Given the description of an element on the screen output the (x, y) to click on. 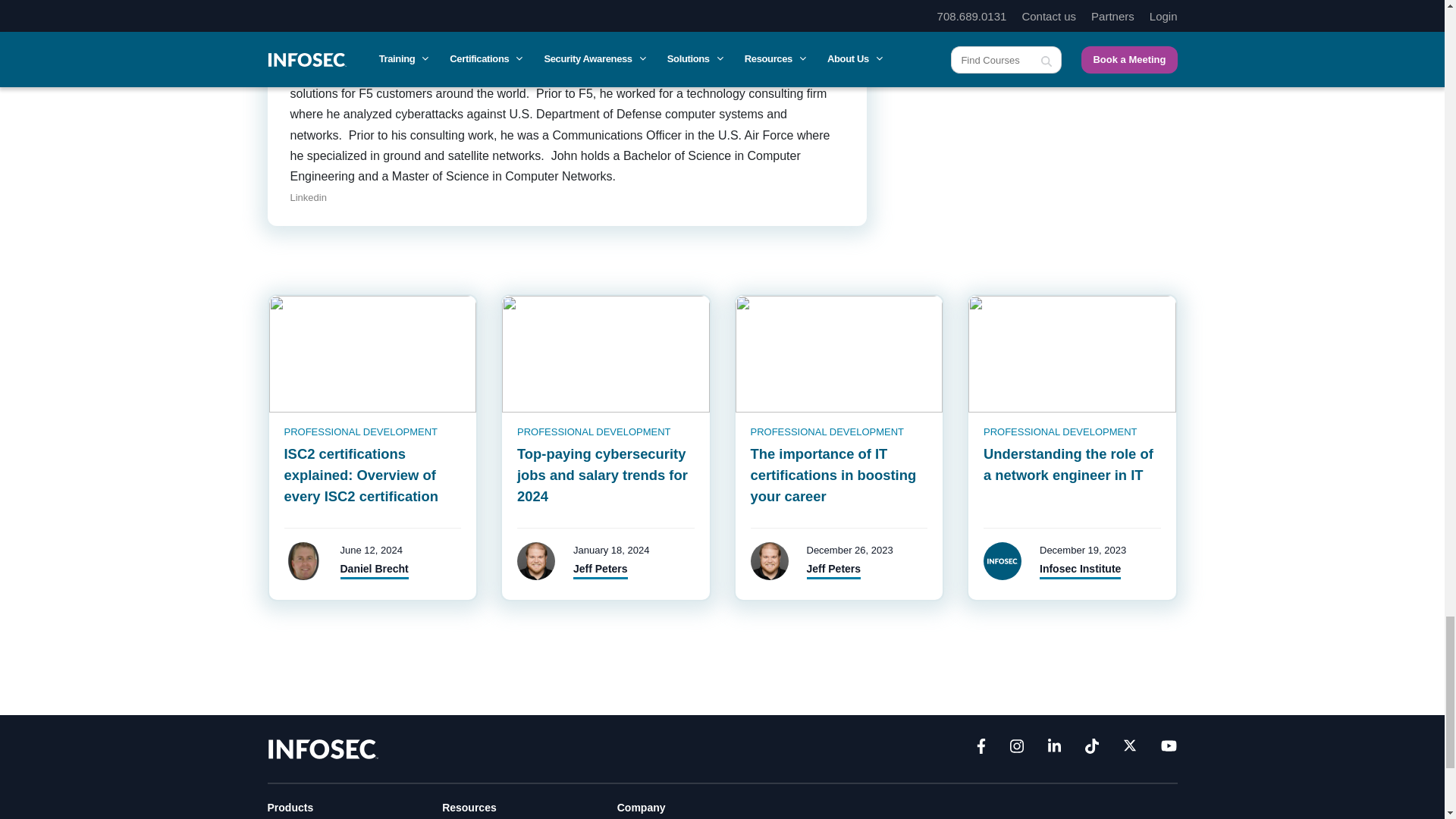
Infosec (322, 748)
Instagram (1016, 748)
LinkedIn (1054, 748)
Facebook (981, 748)
